Given the description of an element on the screen output the (x, y) to click on. 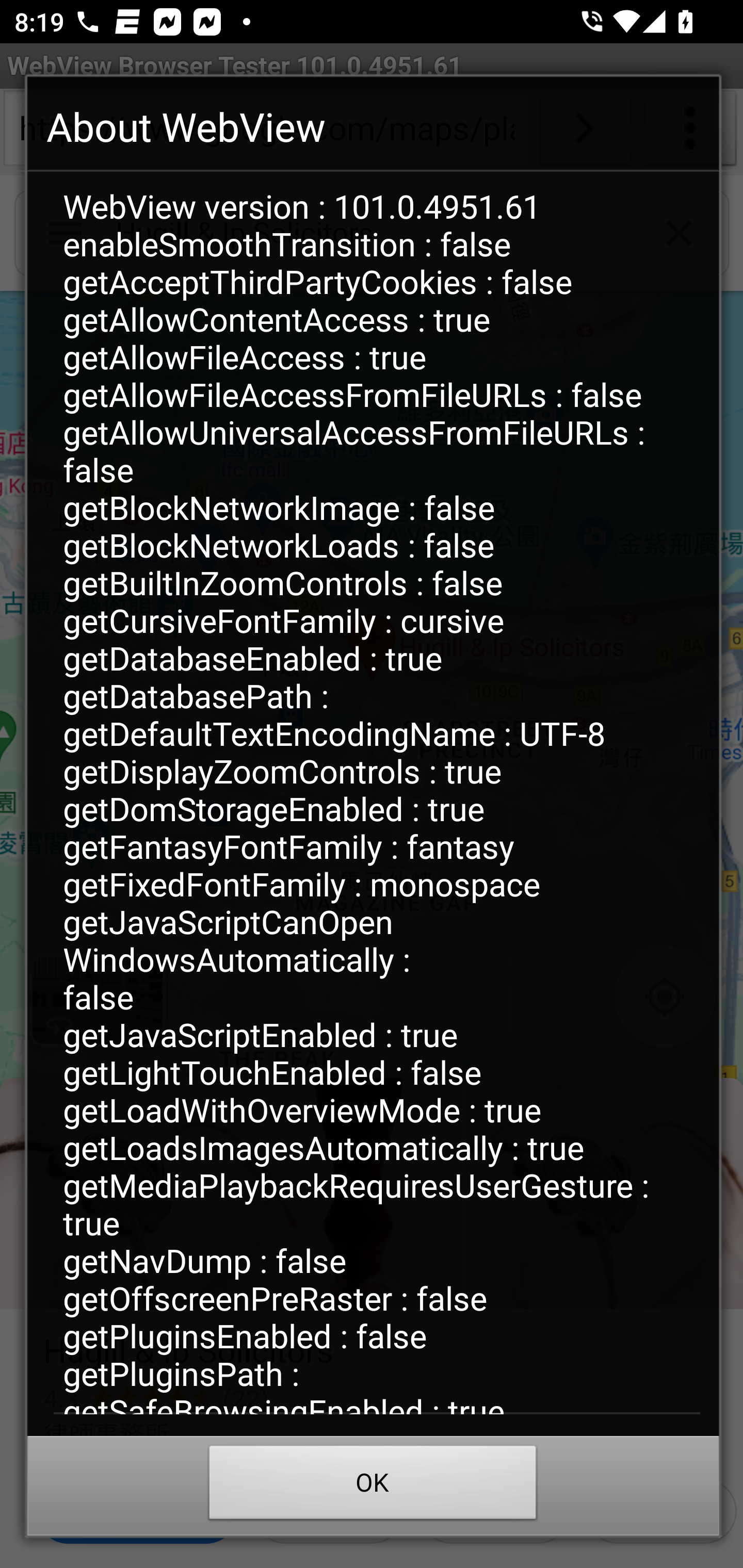
OK (372, 1486)
